Given the description of an element on the screen output the (x, y) to click on. 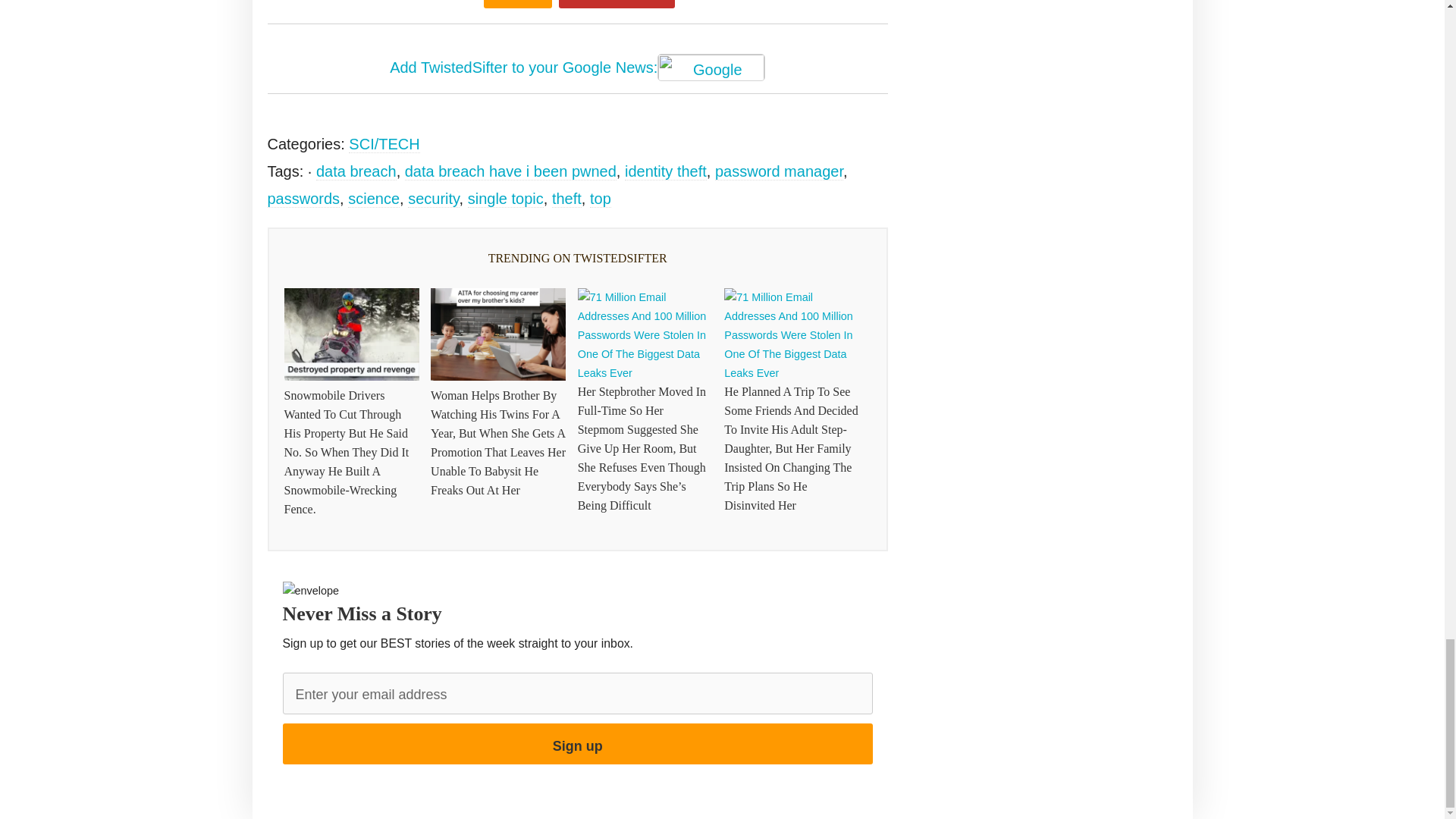
Subscribe For Emails (617, 4)
Email This (517, 4)
Sign up (577, 743)
data breach (355, 171)
Add TwistedSifter to your Google News: (577, 69)
Google News (711, 67)
